Given the description of an element on the screen output the (x, y) to click on. 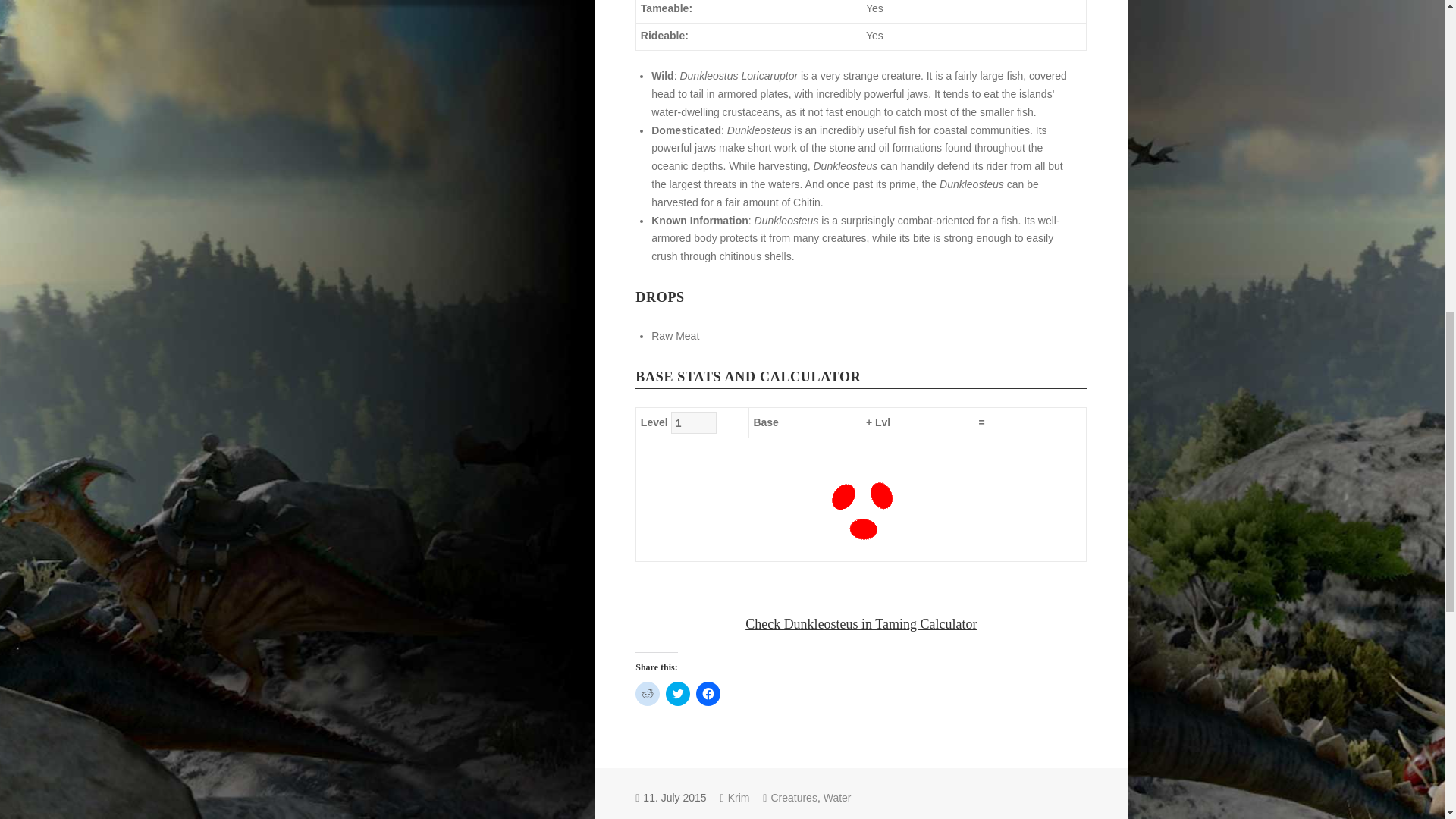
Posts by Krim (738, 797)
Click to share on Facebook (707, 693)
View all posts in Water (837, 797)
Click to share on Reddit (646, 693)
View all posts in Creatures (793, 797)
1 (693, 422)
Click to share on Twitter (677, 693)
